Given the description of an element on the screen output the (x, y) to click on. 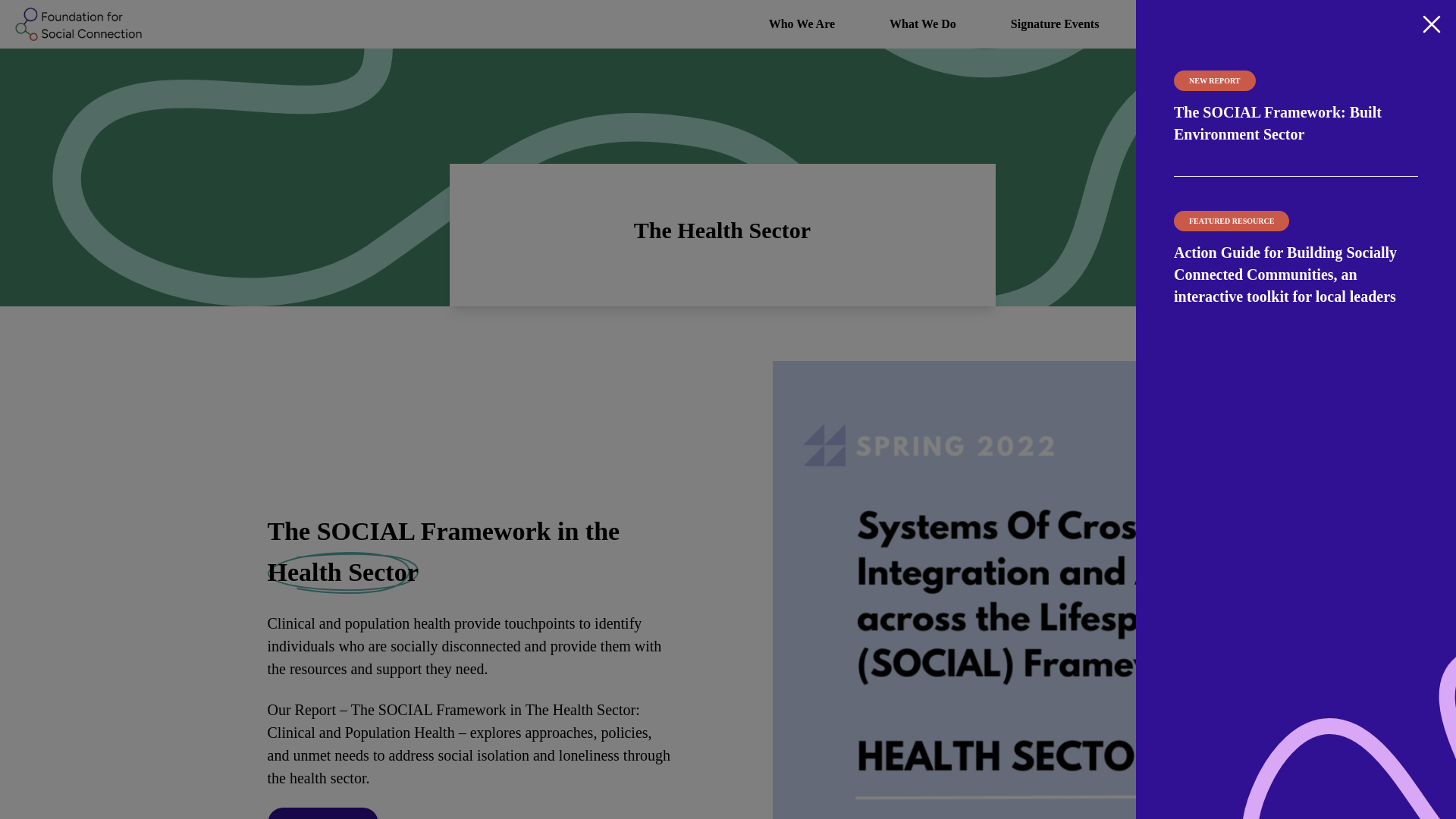
Read the Report (322, 813)
Donate (1392, 23)
Who We Are (802, 24)
The SOCIAL Framework: Built Environment Sector (1277, 123)
What We Do (923, 24)
Signature Events (1055, 24)
Take Action (1291, 24)
Resources (1179, 24)
